Given the description of an element on the screen output the (x, y) to click on. 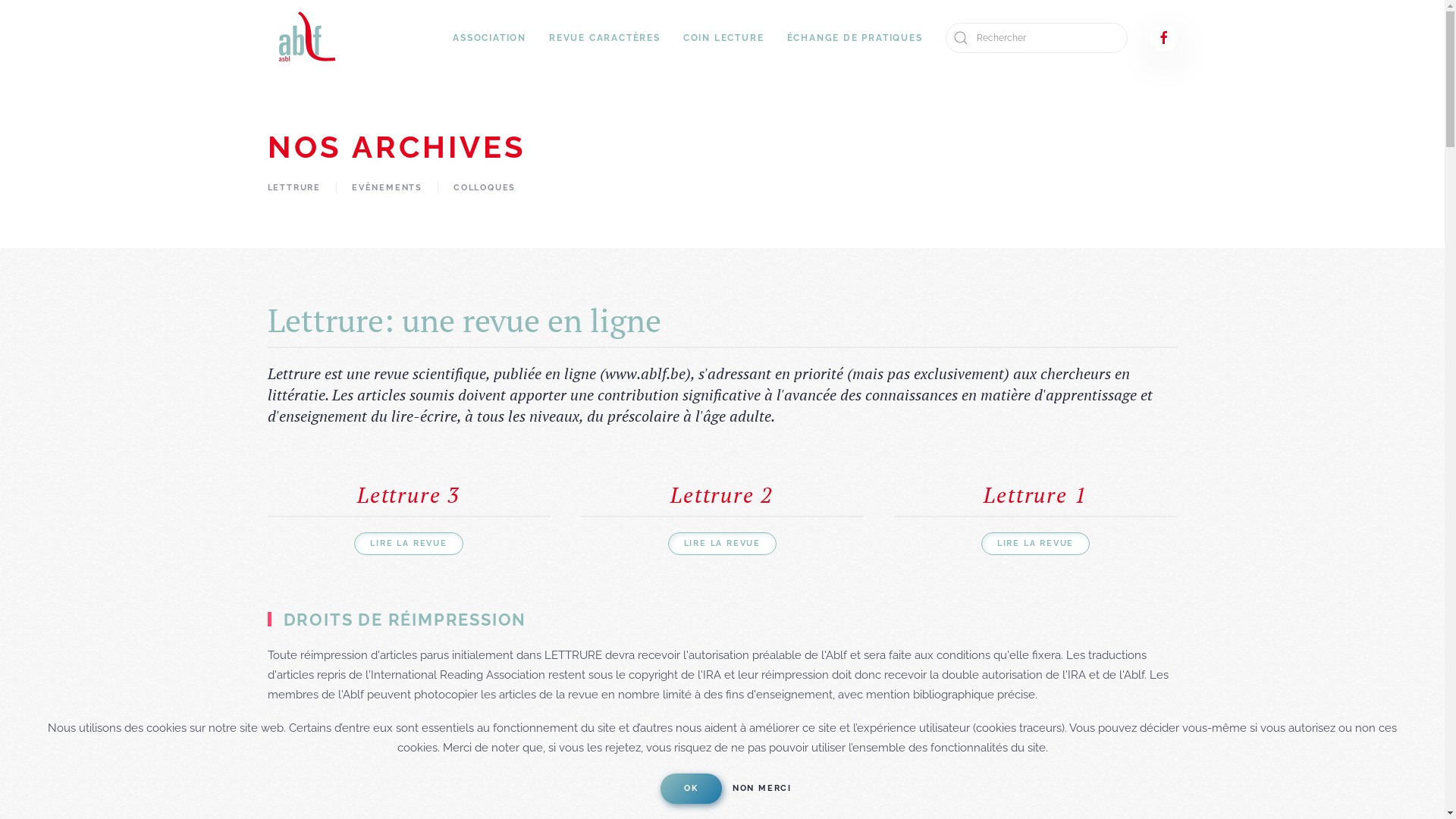
LETTRURE Element type: text (293, 187)
ASSOCIATION Element type: text (489, 37)
LIRE LA REVUE Element type: text (408, 543)
OK Element type: text (690, 788)
LIRE LA REVUE Element type: text (722, 543)
NON MERCI Element type: text (761, 788)
COIN LECTURE Element type: text (723, 37)
COLLOQUES Element type: text (484, 187)
LIRE LA REVUE Element type: text (1035, 543)
